Given the description of an element on the screen output the (x, y) to click on. 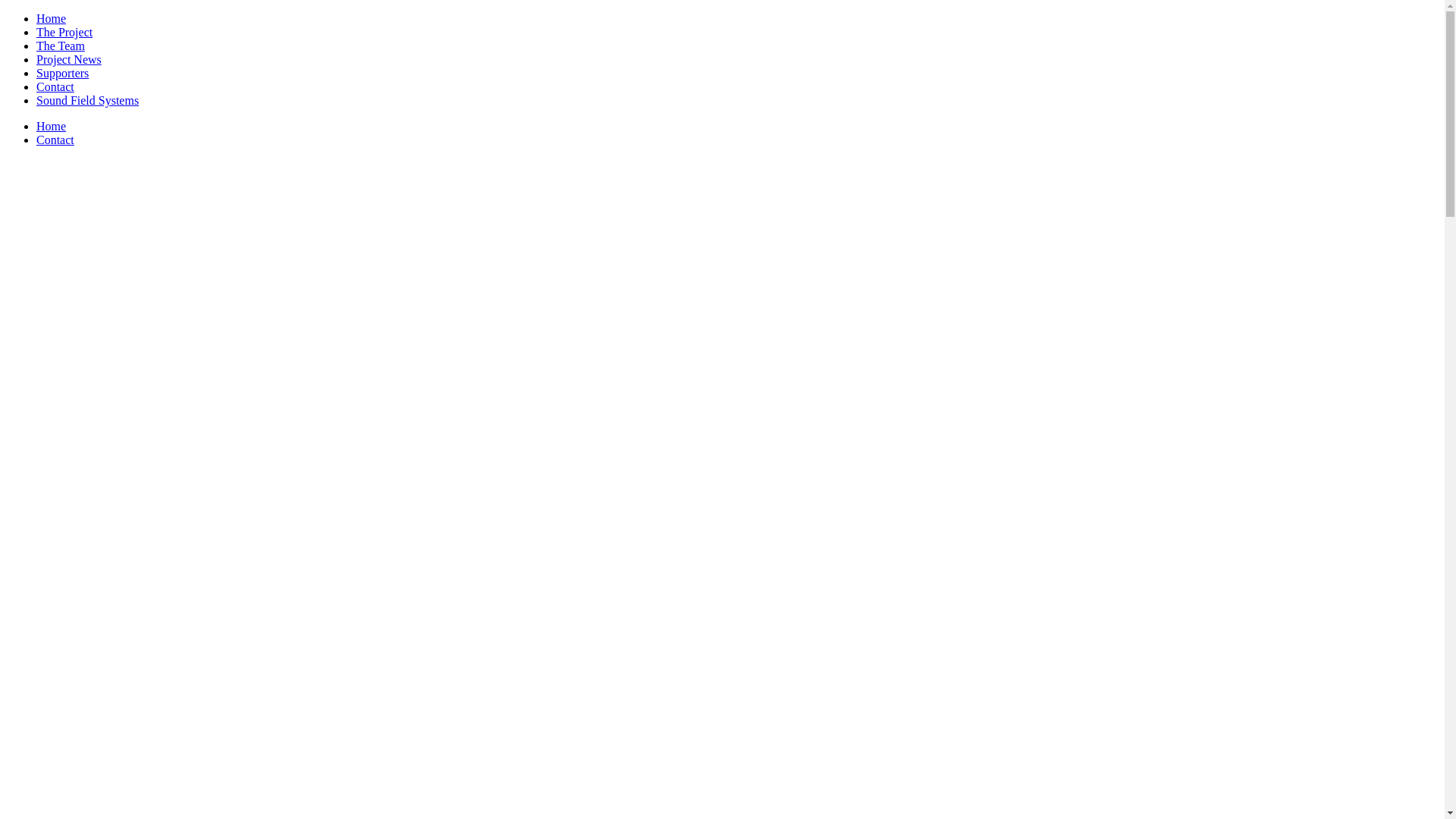
Sound Field Systems Element type: text (87, 100)
The Project Element type: text (64, 31)
Home Element type: text (50, 18)
The Team Element type: text (60, 45)
Contact Element type: text (55, 86)
Project News Element type: text (68, 59)
Contact Element type: text (55, 139)
Home Element type: text (50, 125)
Supporters Element type: text (62, 72)
